Given the description of an element on the screen output the (x, y) to click on. 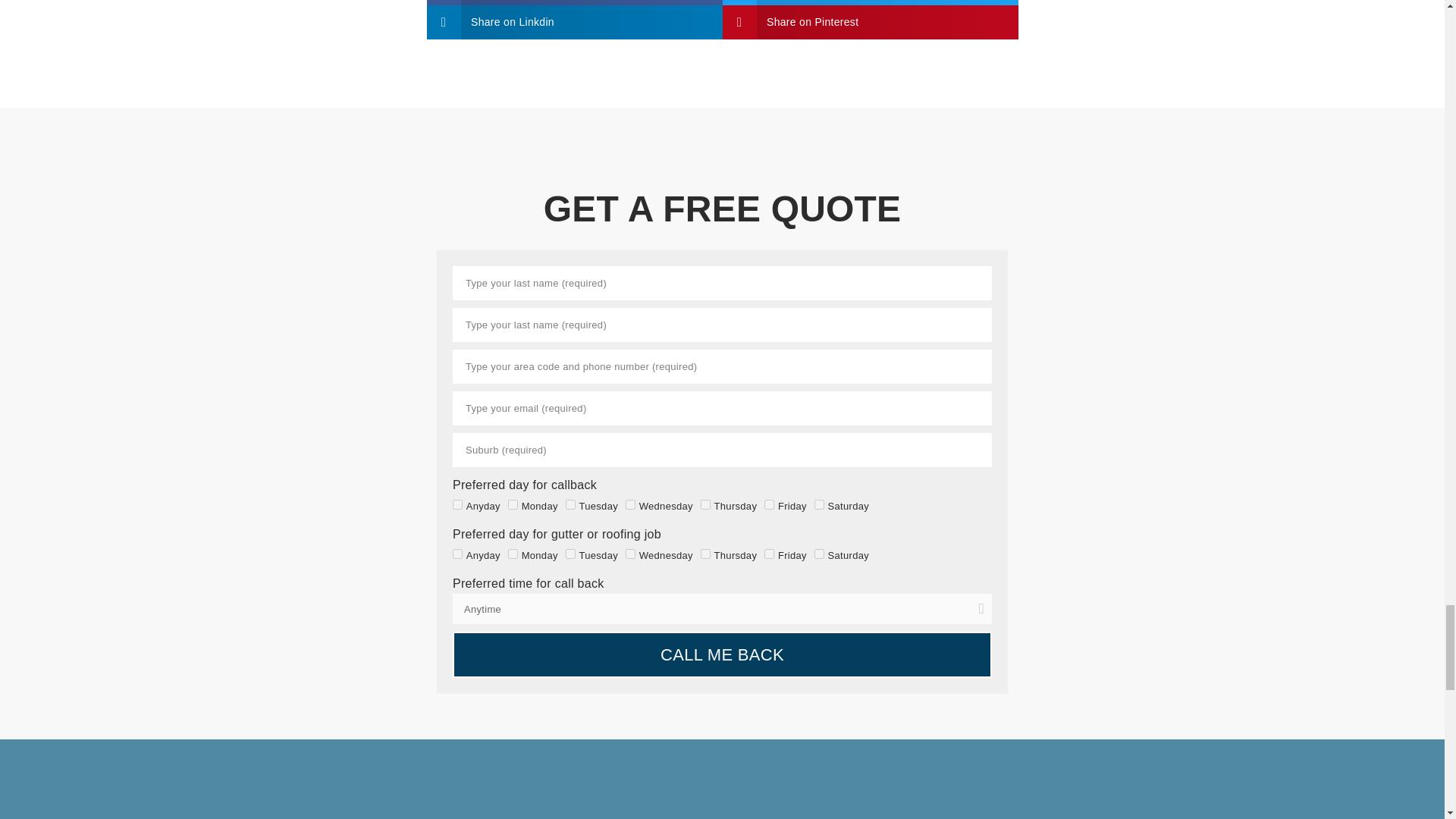
Wednesday (630, 553)
Anyday (457, 504)
Saturday (818, 553)
Thursday (705, 504)
Thursday (705, 553)
Tuesday (570, 553)
Saturday (818, 504)
Monday (513, 504)
Anyday (457, 553)
Wednesday (630, 504)
Monday (513, 553)
Friday (769, 504)
Tuesday (570, 504)
Friday (769, 553)
